Given the description of an element on the screen output the (x, y) to click on. 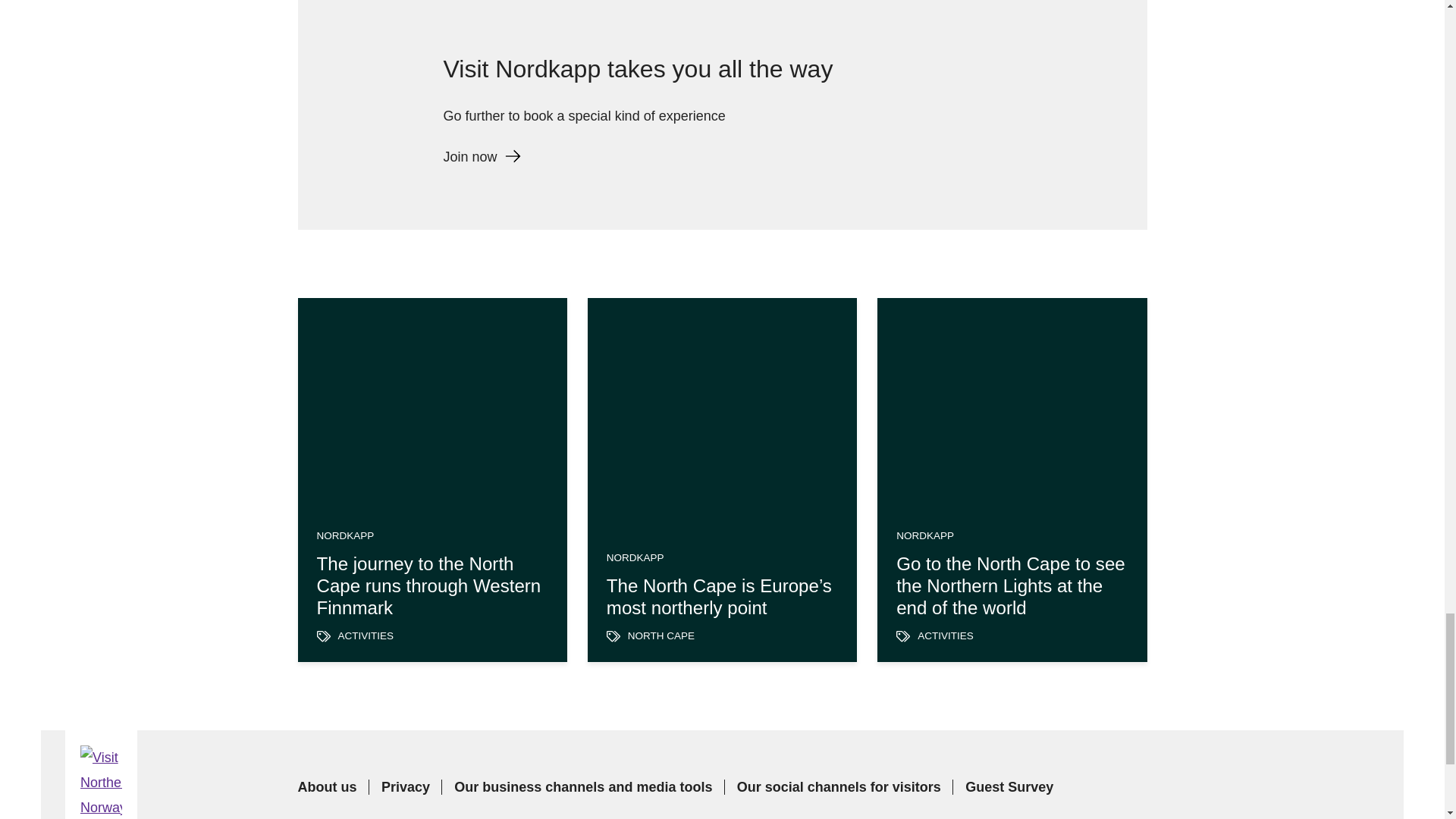
About us (326, 787)
Join now (480, 157)
